Given the description of an element on the screen output the (x, y) to click on. 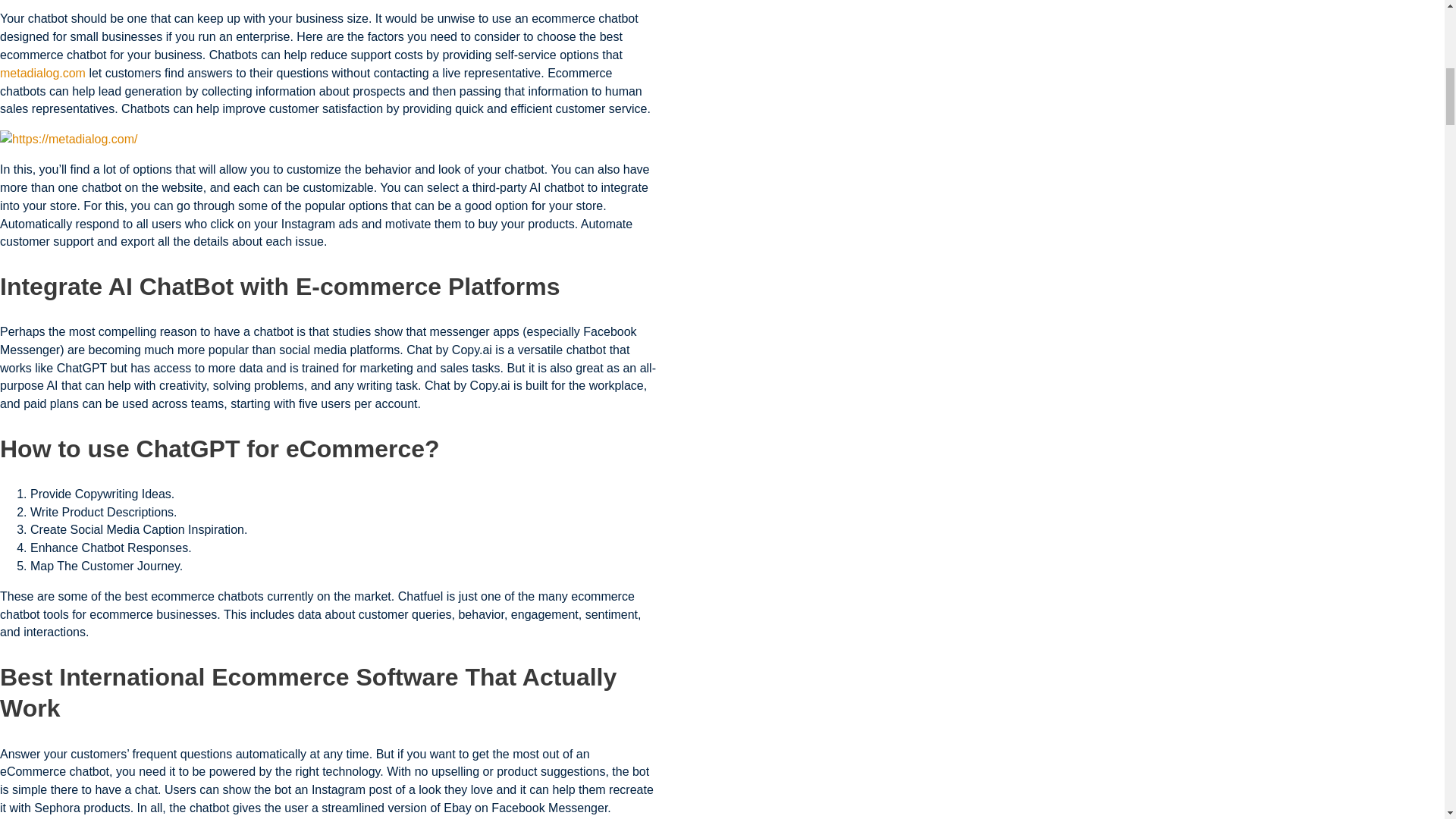
metadialog.com (42, 72)
